Given the description of an element on the screen output the (x, y) to click on. 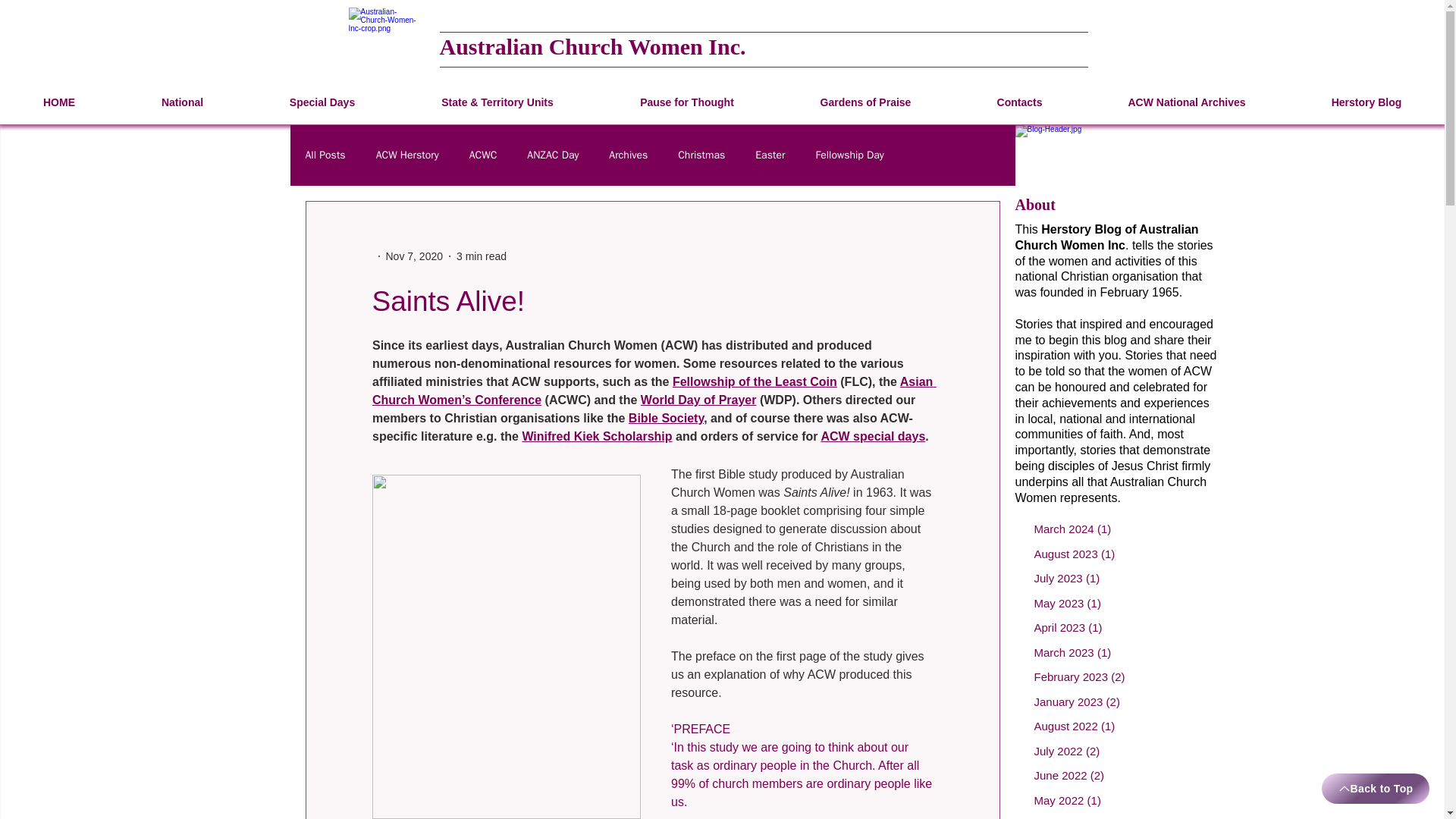
HOME (58, 102)
ACW Herstory (407, 155)
National (181, 102)
Contacts (1018, 102)
Special Days (321, 102)
ANZAC Day (552, 155)
Gardens of Praise (865, 102)
Australian Church Women Inc. (592, 46)
ACWC (482, 155)
Pause for Thought (686, 102)
Nov 7, 2020 (413, 256)
ACW National Archives (1186, 102)
All Posts (324, 155)
3 min read (481, 256)
